Given the description of an element on the screen output the (x, y) to click on. 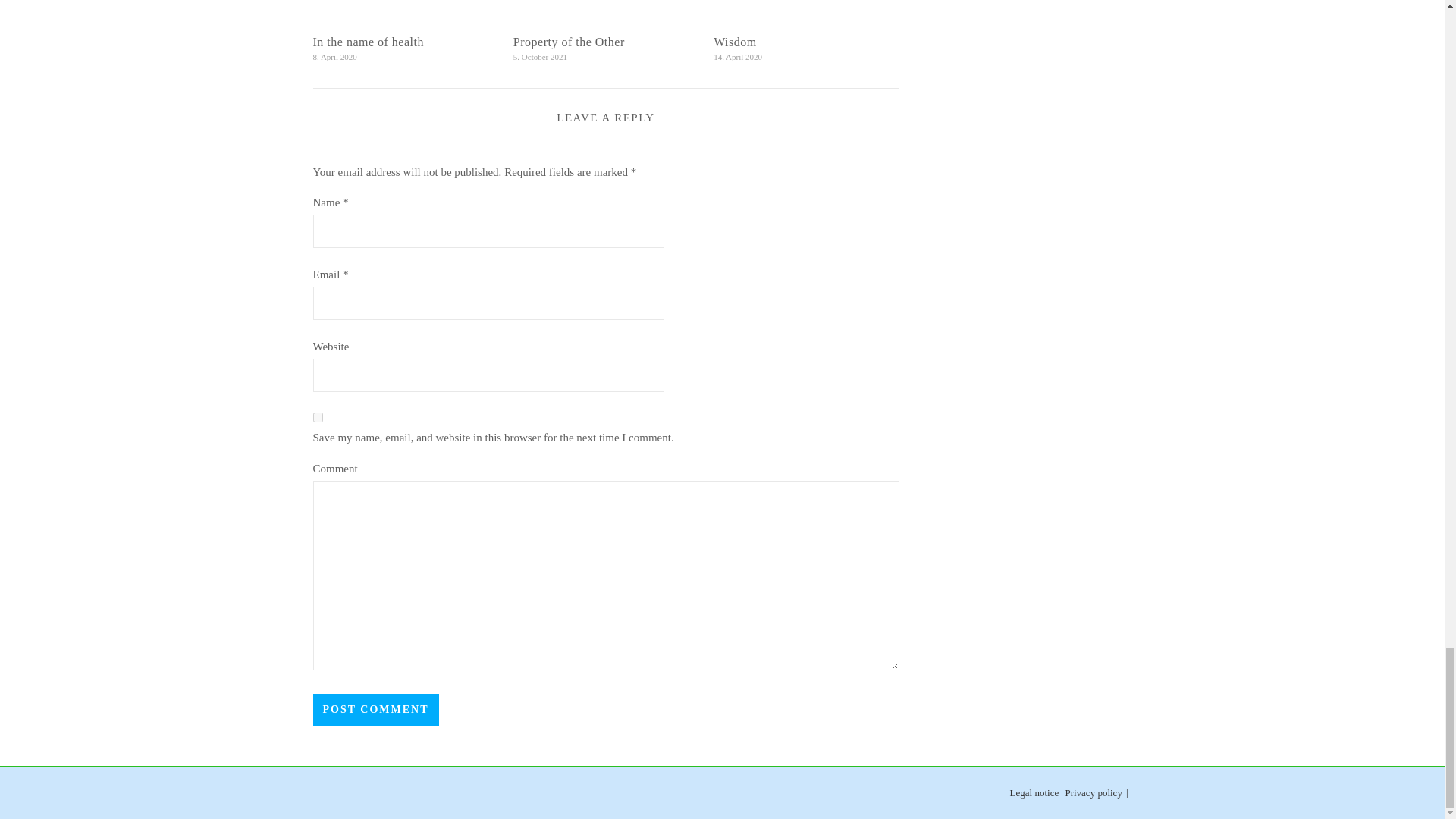
Post Comment (375, 709)
yes (317, 417)
Property of the Other (568, 42)
Wisdom (735, 42)
Post Comment (375, 709)
In the name of health (368, 42)
